Given the description of an element on the screen output the (x, y) to click on. 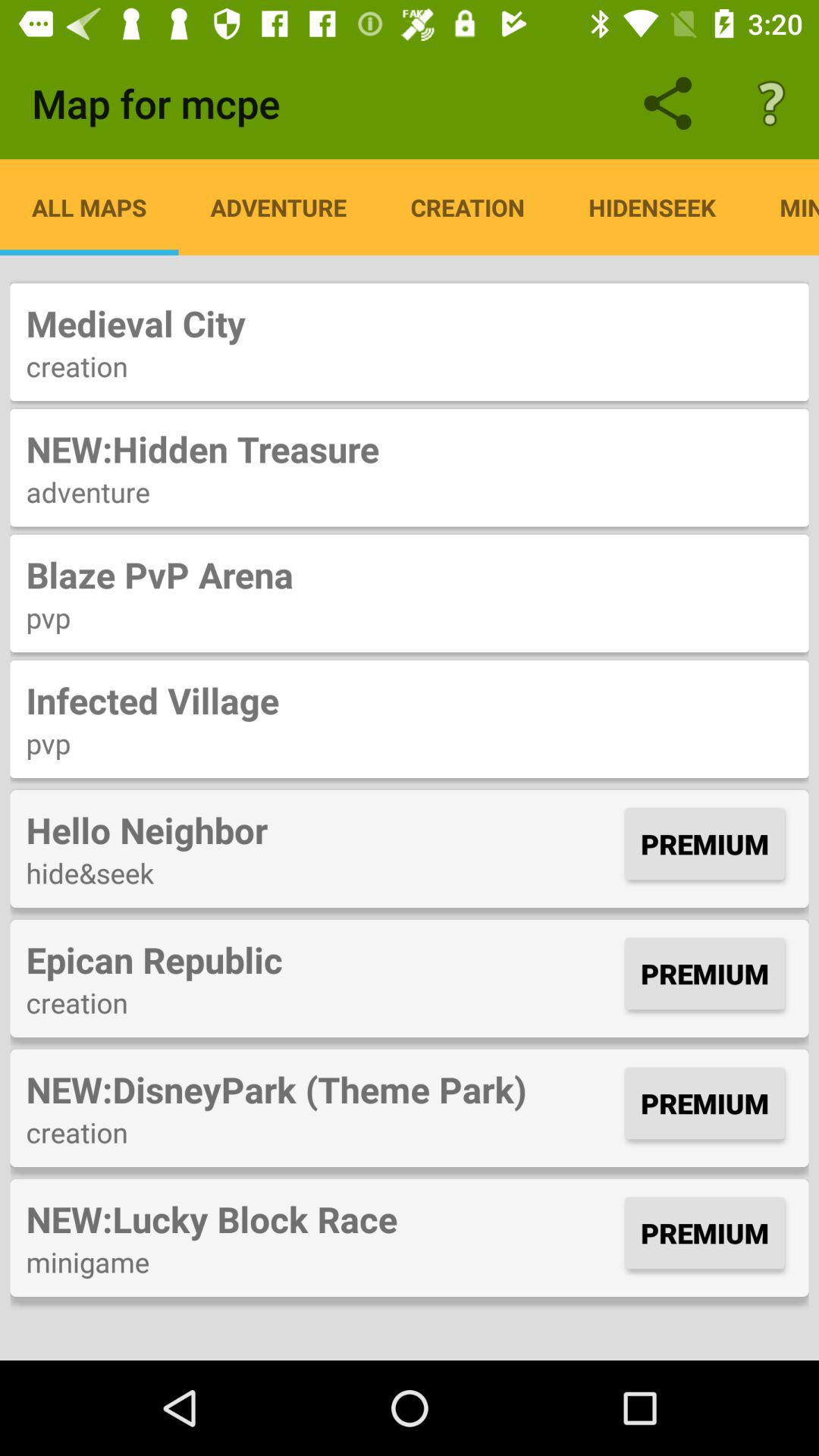
turn on icon below the adventure icon (409, 574)
